Given the description of an element on the screen output the (x, y) to click on. 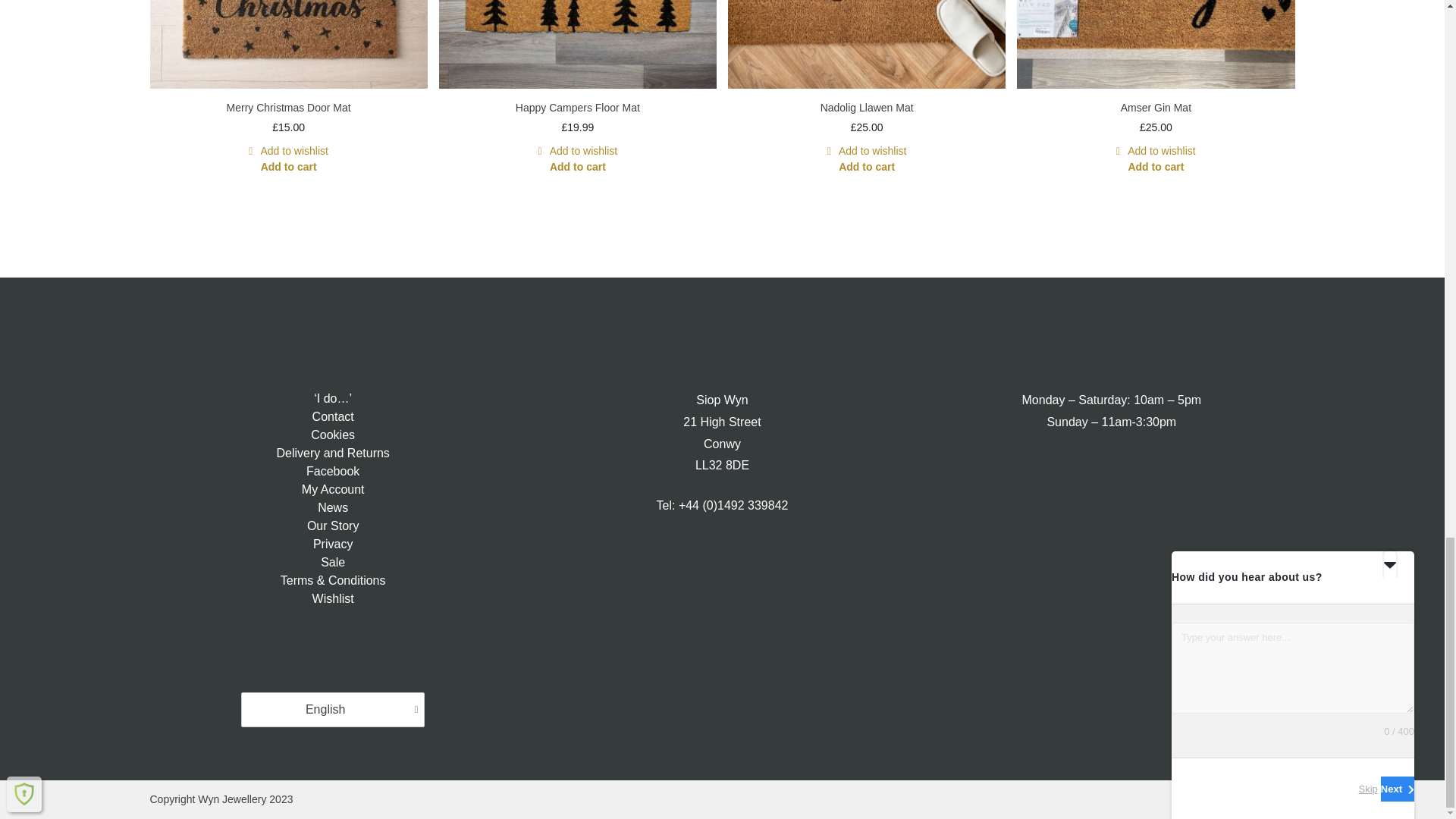
English (329, 710)
